Given the description of an element on the screen output the (x, y) to click on. 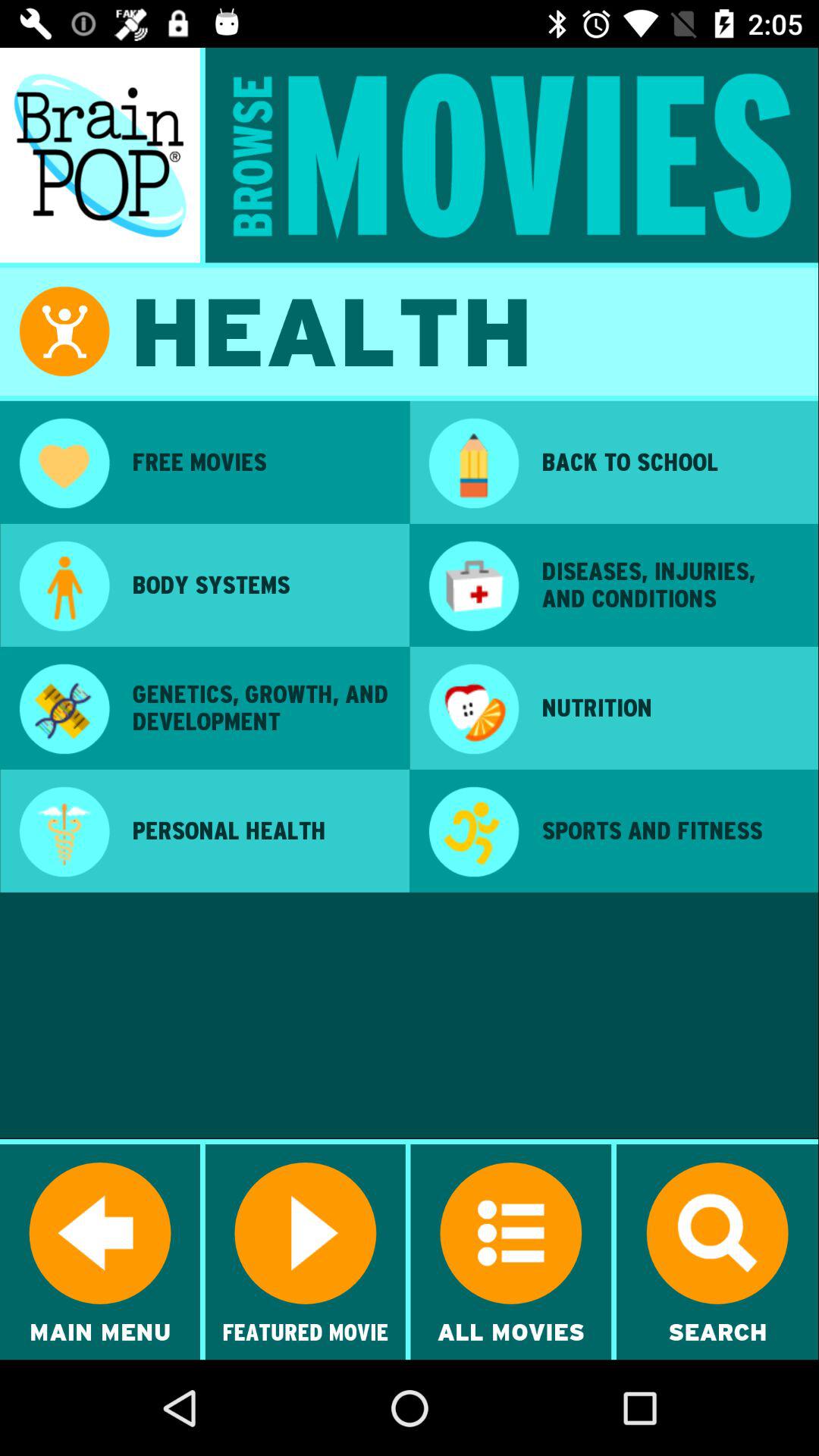
click icon above the genetics growth and app (260, 584)
